Given the description of an element on the screen output the (x, y) to click on. 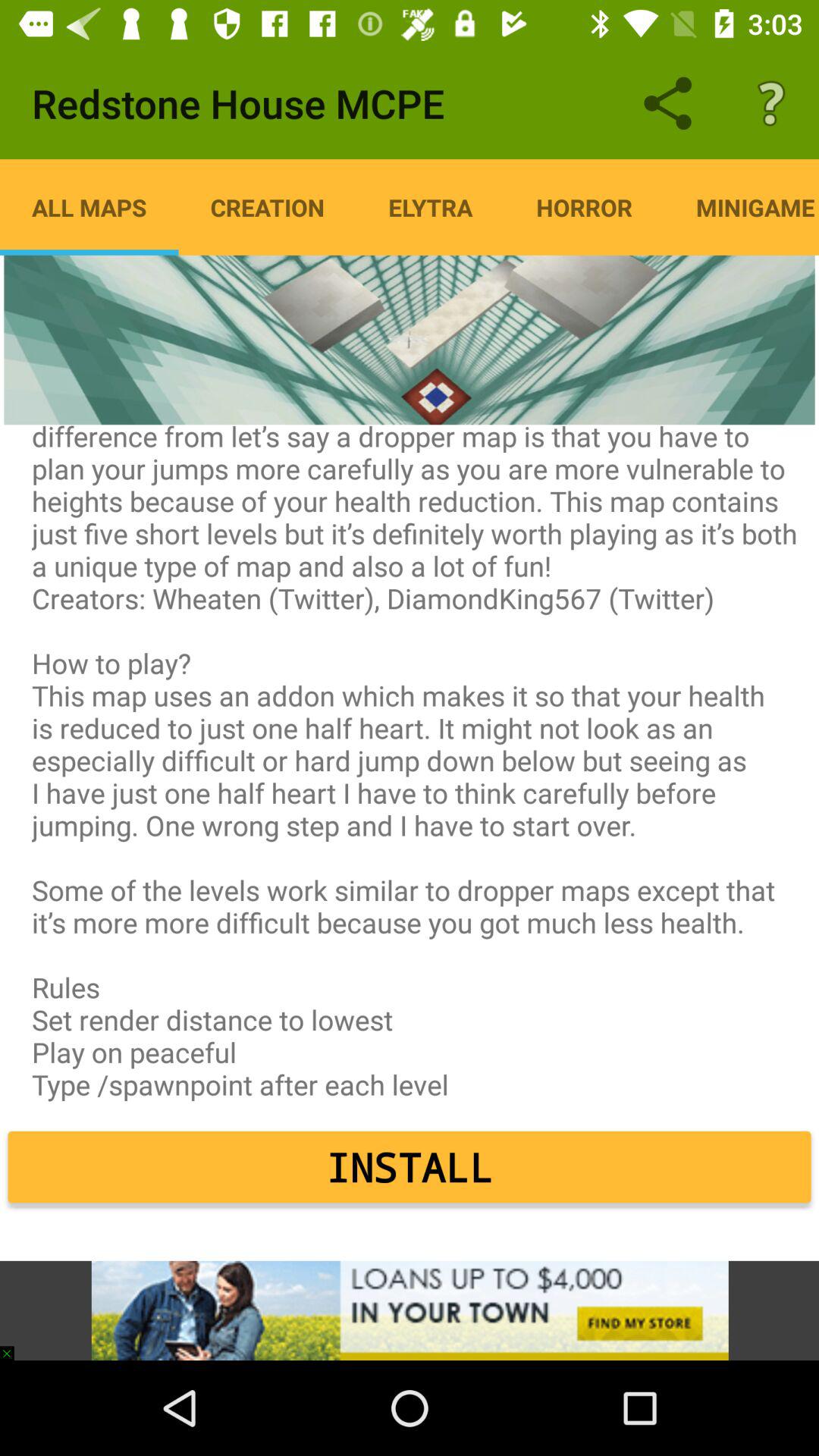
turn on item to the right of elytra (584, 207)
